Given the description of an element on the screen output the (x, y) to click on. 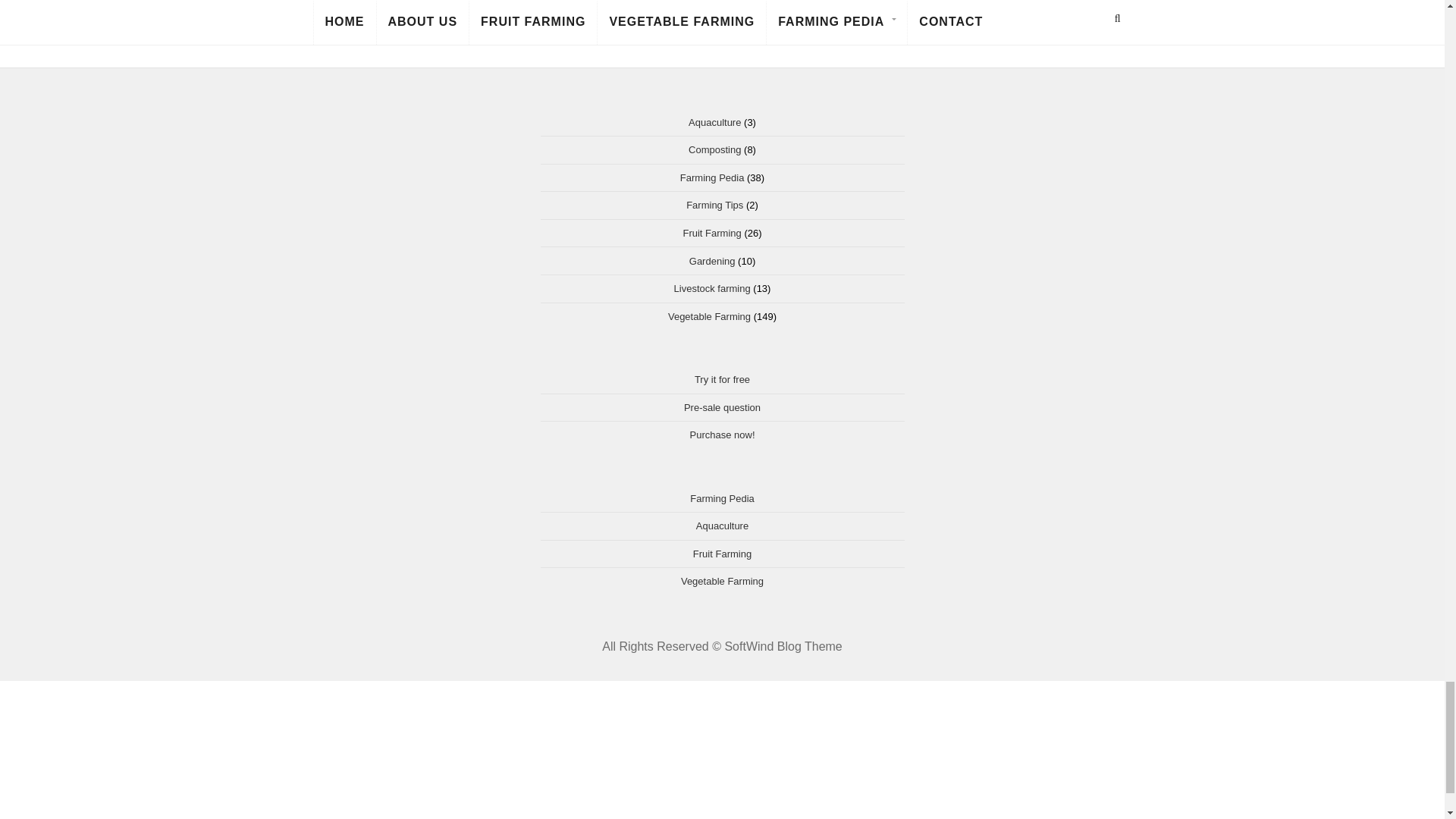
Vegetable Farming (709, 316)
Fruit Farming (711, 233)
Aquaculture (714, 122)
Livestock farming (712, 288)
Gardening (711, 260)
Farming Pedia (711, 177)
Composting (714, 149)
